Given the description of an element on the screen output the (x, y) to click on. 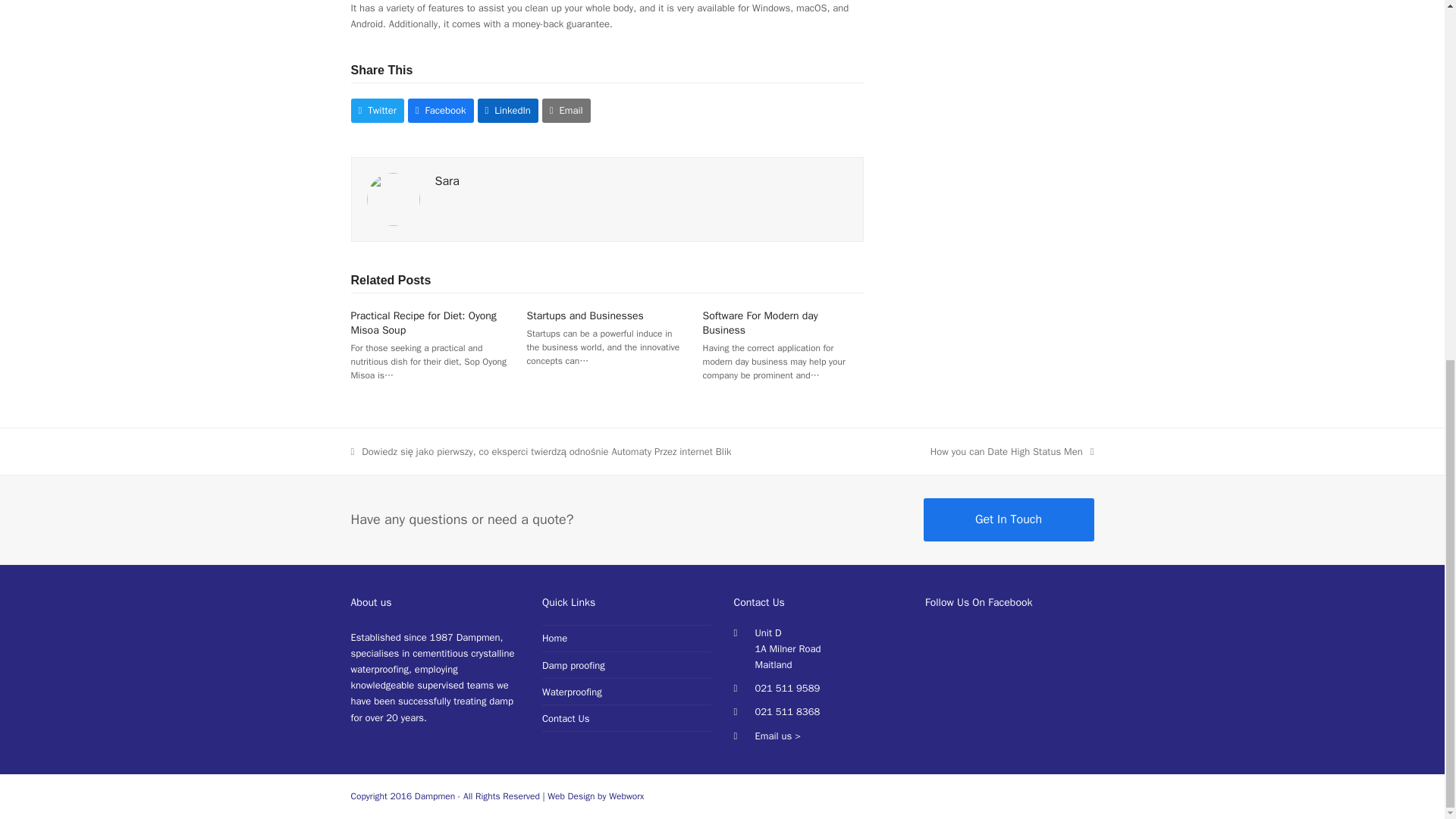
Web Design by Webworx (595, 796)
Damp proofing (573, 665)
Contact Us (565, 717)
Practical Recipe for Diet: Oyong Misoa Soup (423, 322)
LinkedIn (507, 110)
Email (566, 110)
Facebook (440, 110)
Twitter (376, 110)
Home (554, 637)
Software For Modern day Business (760, 322)
